Given the description of an element on the screen output the (x, y) to click on. 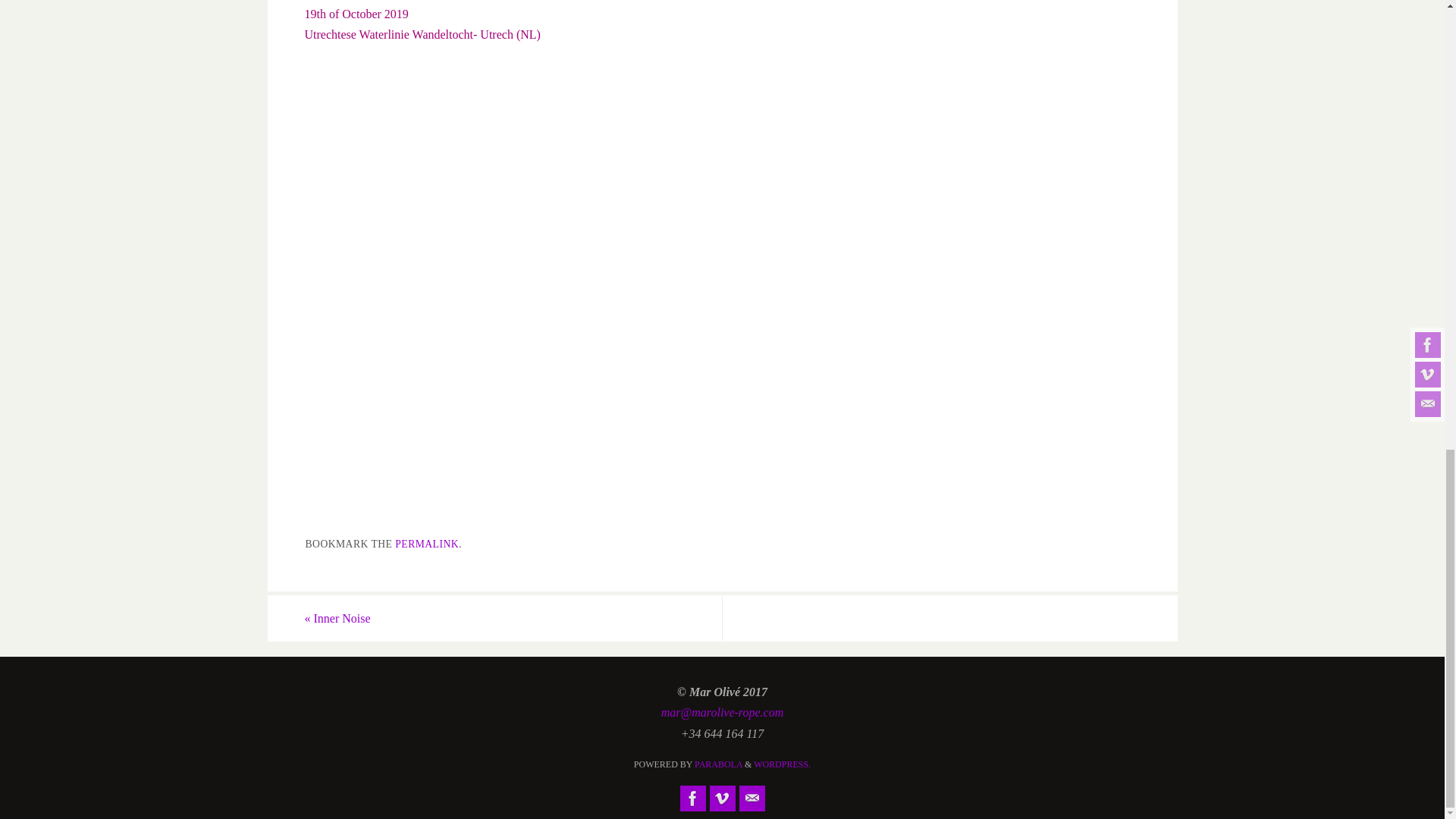
Semantic Personal Publishing Platform (782, 764)
PARABOLA (718, 764)
Permalink to Somehow. (426, 543)
vimeo-marolive (722, 798)
facebook-marolive (691, 798)
Parabola Theme by Cryout Creations (718, 764)
PERMALINK (426, 543)
mail (751, 798)
WORDPRESS. (782, 764)
